Given the description of an element on the screen output the (x, y) to click on. 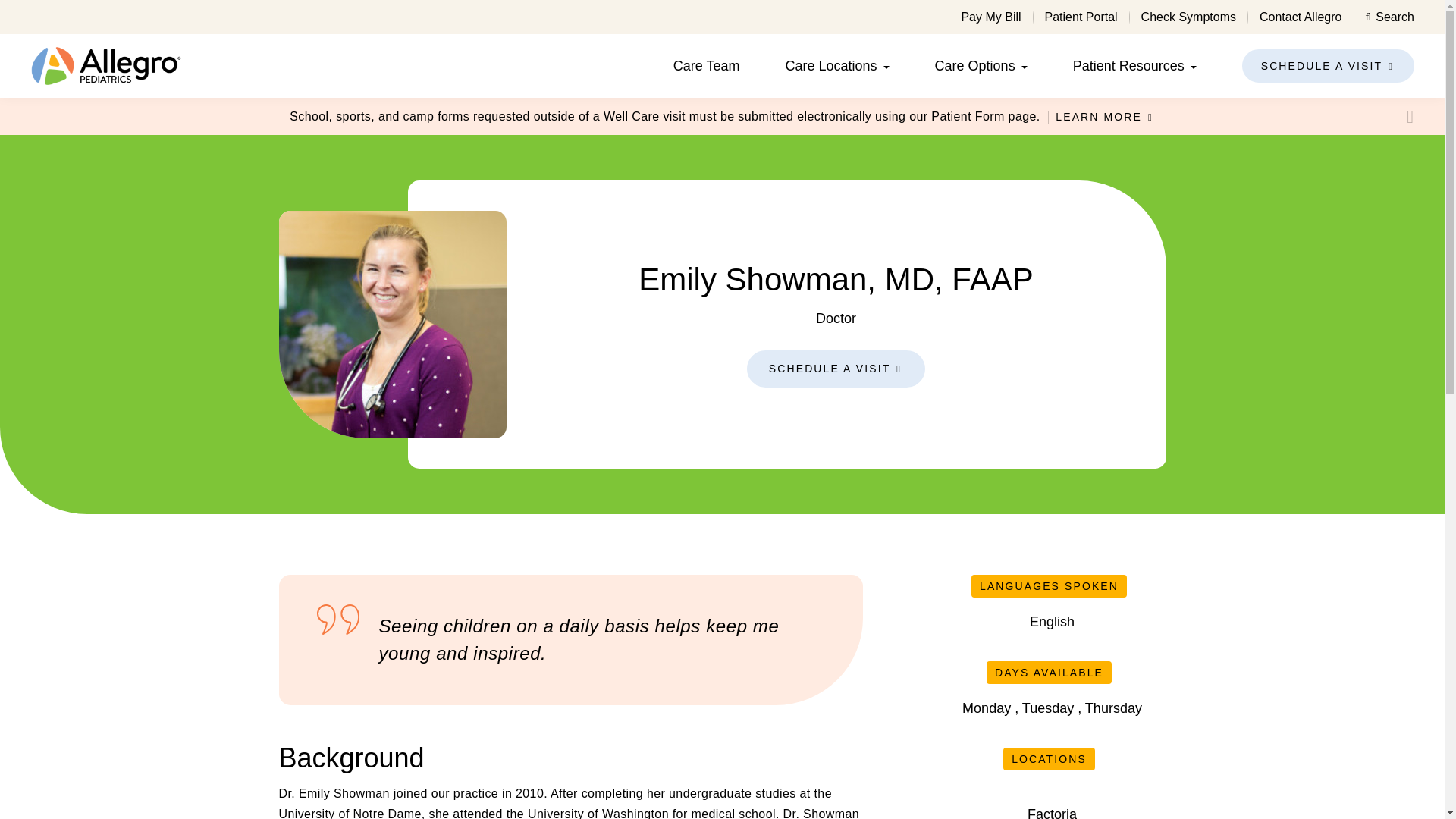
Care Locations (831, 65)
Patient Resources (1129, 65)
Contact Allegro (1300, 16)
Search (1389, 16)
Check Symptoms (1188, 16)
Pay My Bill (990, 16)
Care Options (974, 65)
Patient Portal (1081, 16)
Care Team (705, 65)
